Given the description of an element on the screen output the (x, y) to click on. 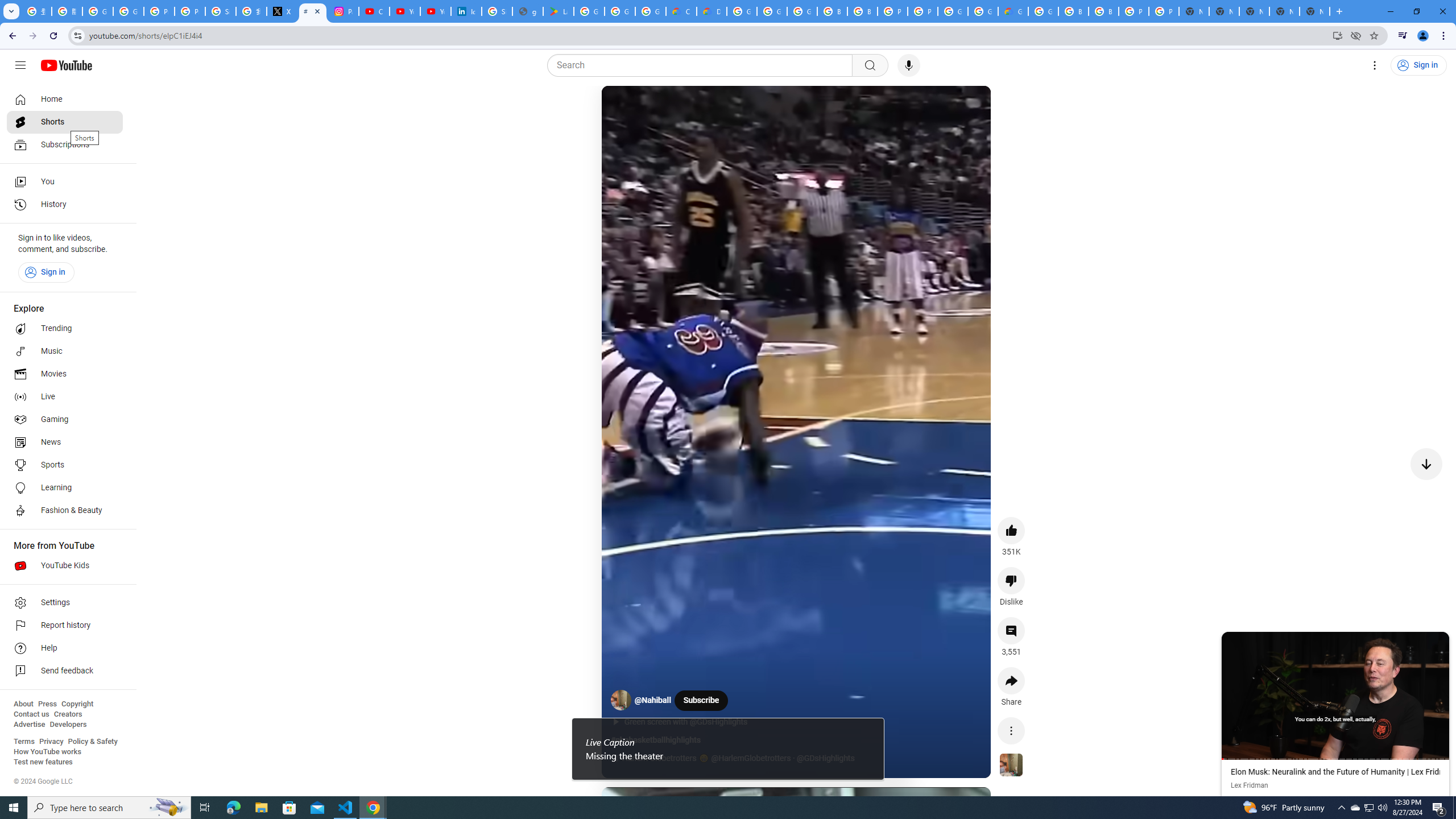
#nbabasketballhighlights (655, 740)
YouTube Culture & Trends - YouTube Top 10, 2021 (434, 11)
Subscriptions (64, 144)
Google Cloud Platform (952, 11)
Sign in - Google Accounts (496, 11)
Browse Chrome as a guest - Computer - Google Chrome Help (1072, 11)
Browse Chrome as a guest - Computer - Google Chrome Help (1103, 11)
YouTube Home (66, 65)
Mute (660, 108)
Settings (64, 602)
